Given the description of an element on the screen output the (x, y) to click on. 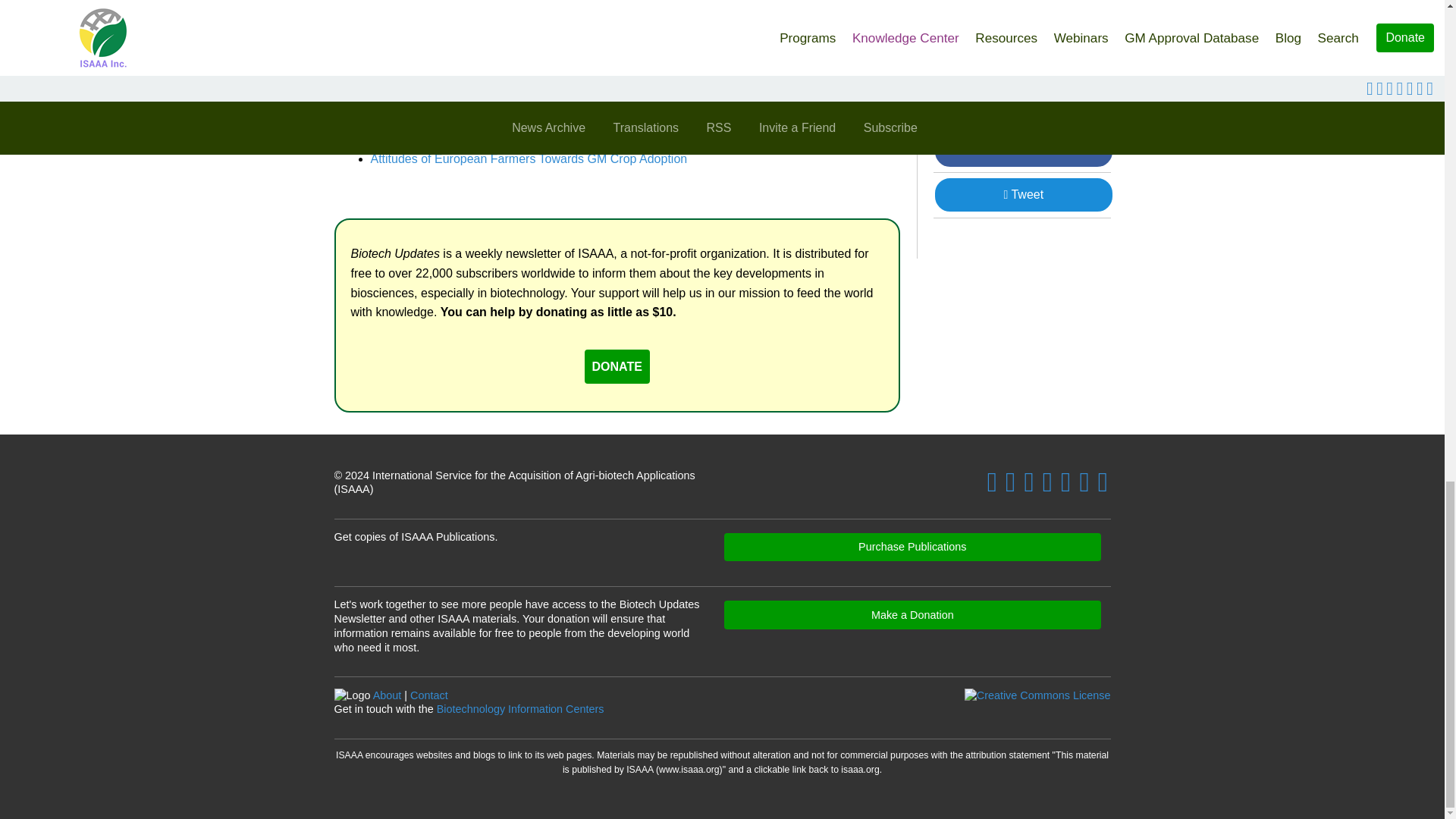
Your email address (1021, 81)
Documented Benefits of GM Crops (561, 21)
ISAAA Pocket K No. 51 (797, 4)
Poland Considers New Law for Cultivation of GM Crops (518, 114)
Coexistence of Biotech and Non-biotech Crops (557, 4)
USDA Secretary Vilsack Challenges Seed Industry (505, 136)
DONATE (617, 366)
Pocket K No. 5 (794, 21)
Attitudes of European Farmers Towards GM Crop Adoption (528, 158)
